Given the description of an element on the screen output the (x, y) to click on. 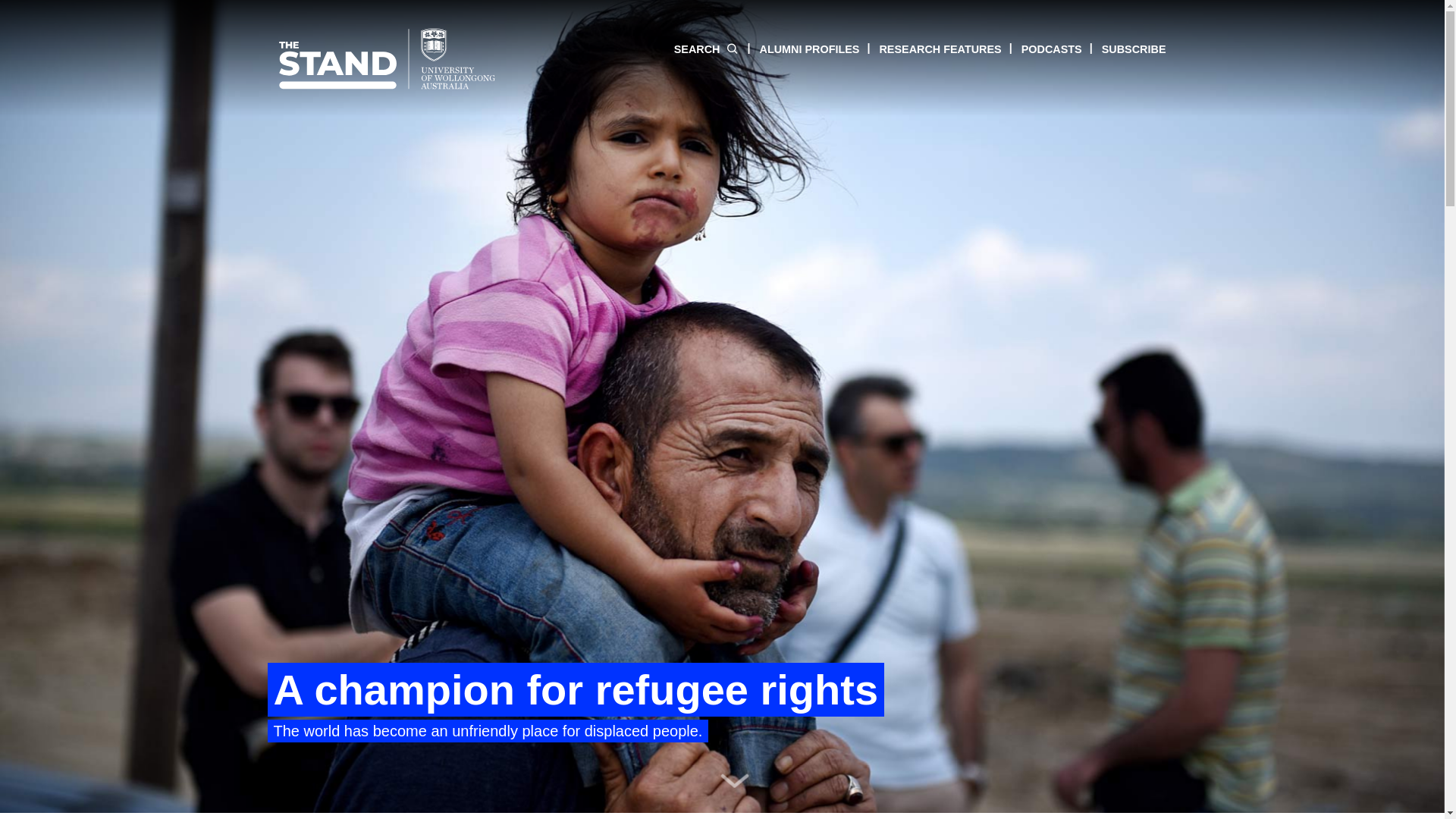
RESEARCH FEATURES (930, 48)
SEARCH (706, 48)
SUBSCRIBE (1123, 48)
PODCASTS (1041, 48)
ALUMNI PROFILES (799, 48)
